Given the description of an element on the screen output the (x, y) to click on. 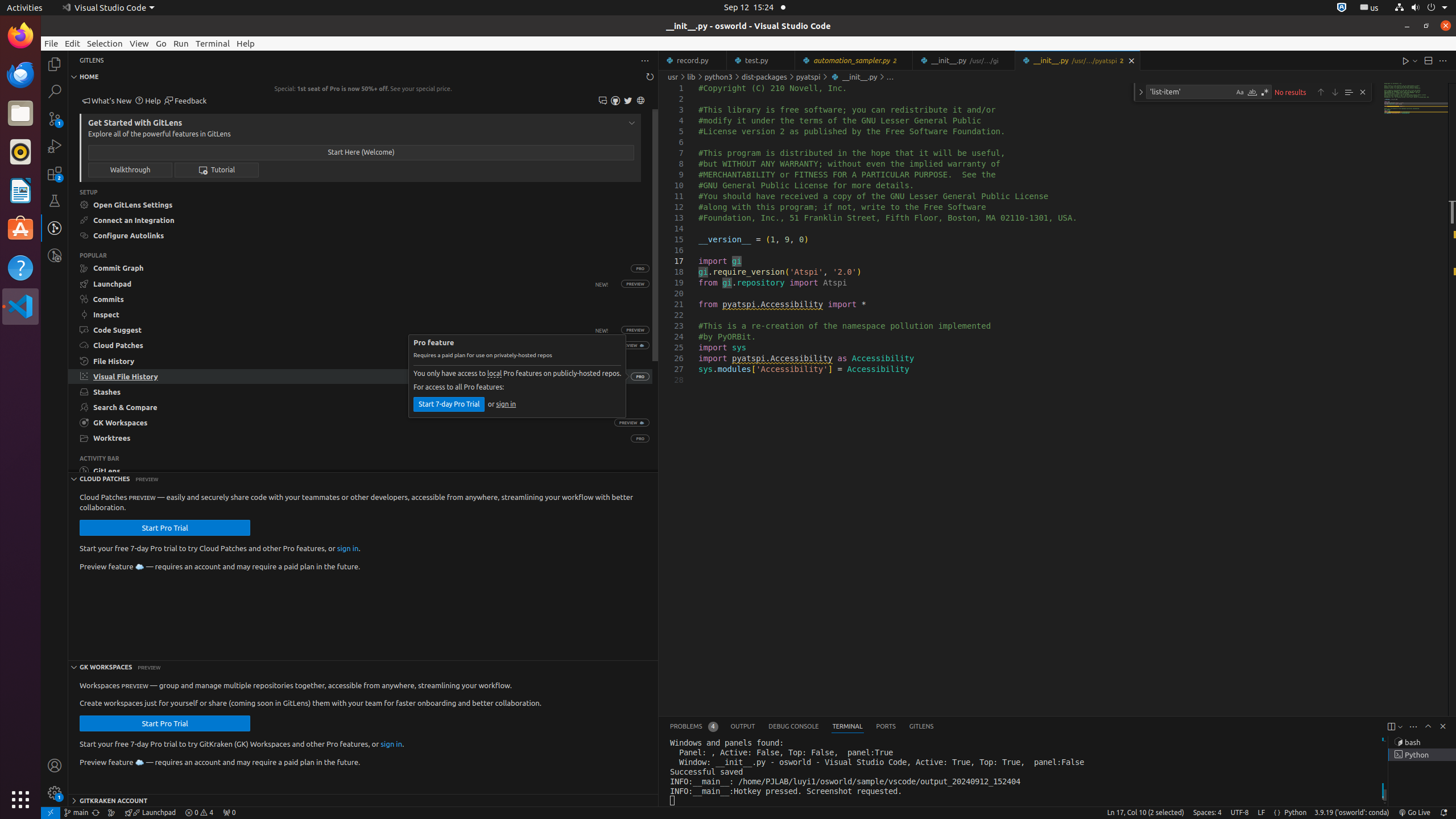
Python Element type: push-button (1295, 812)
Run Python File Element type: push-button (1405, 60)
Show Inspect view Element type: link (359, 314)
Refresh Element type: push-button (649, 76)
